Given the description of an element on the screen output the (x, y) to click on. 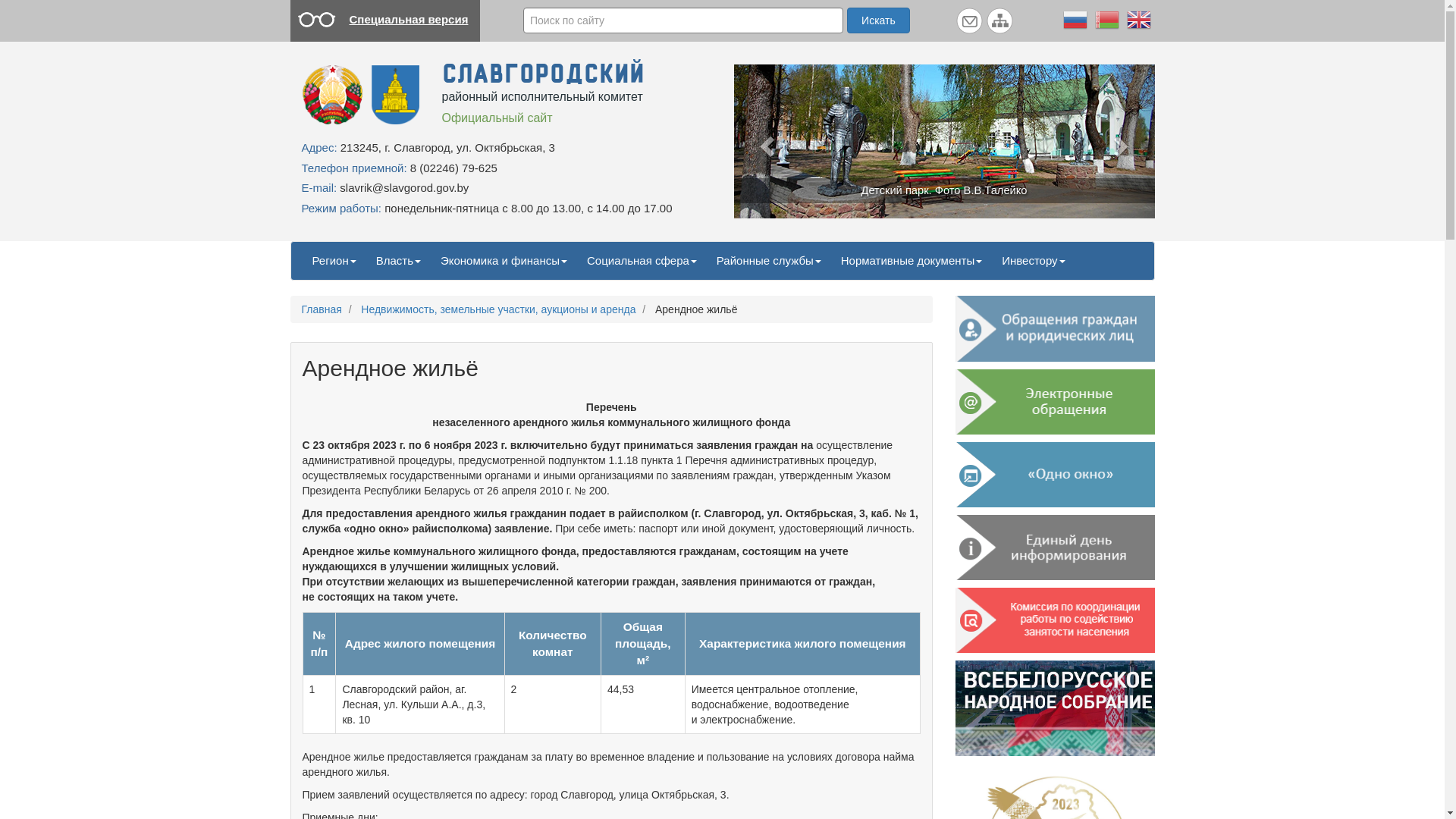
Russian Element type: hover (1074, 18)
Belarusian Element type: hover (1106, 18)
English Element type: hover (1138, 18)
